Given the description of an element on the screen output the (x, y) to click on. 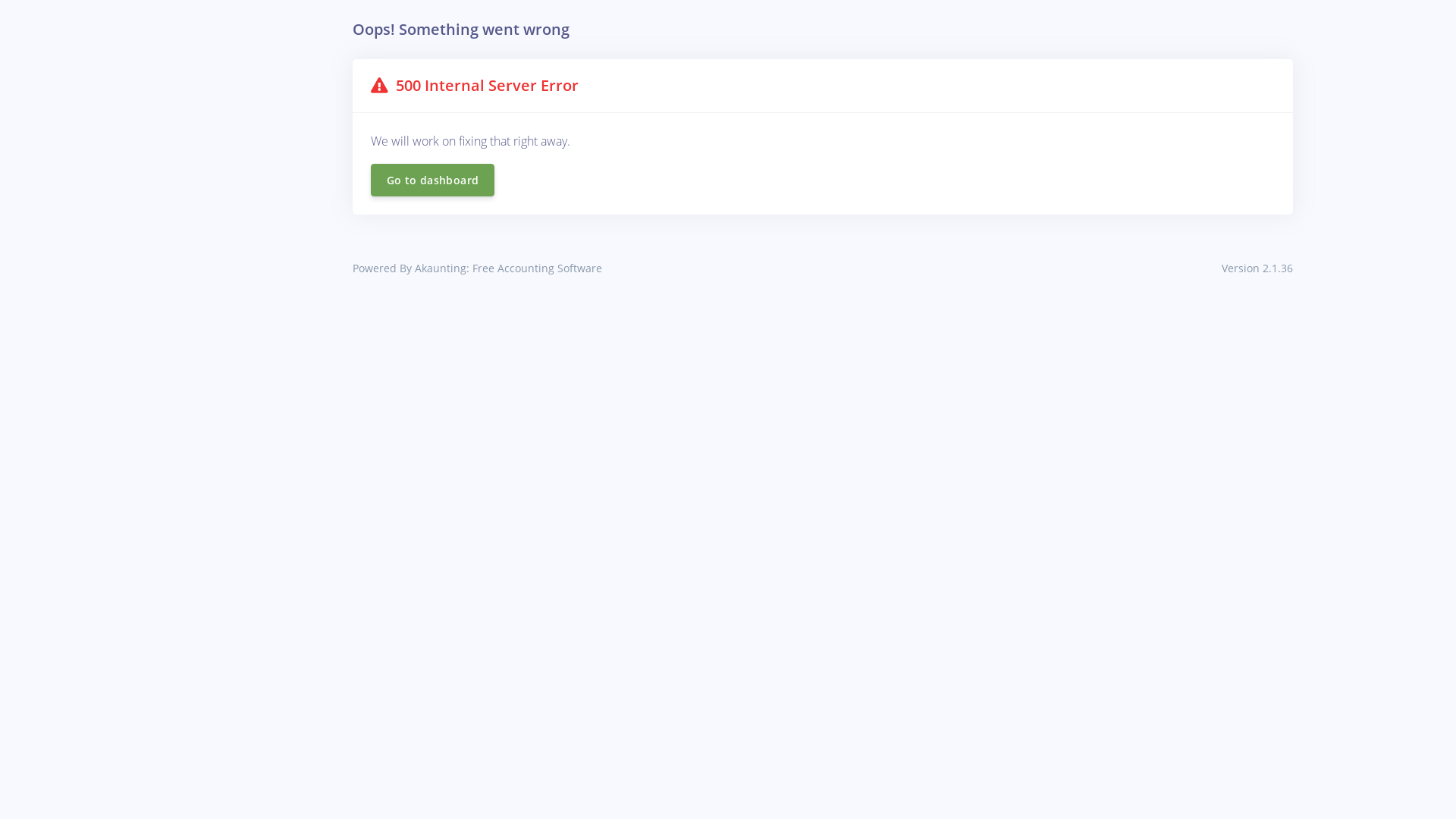
Go to dashboard Element type: text (432, 179)
Free Accounting Software Element type: text (537, 267)
